Given the description of an element on the screen output the (x, y) to click on. 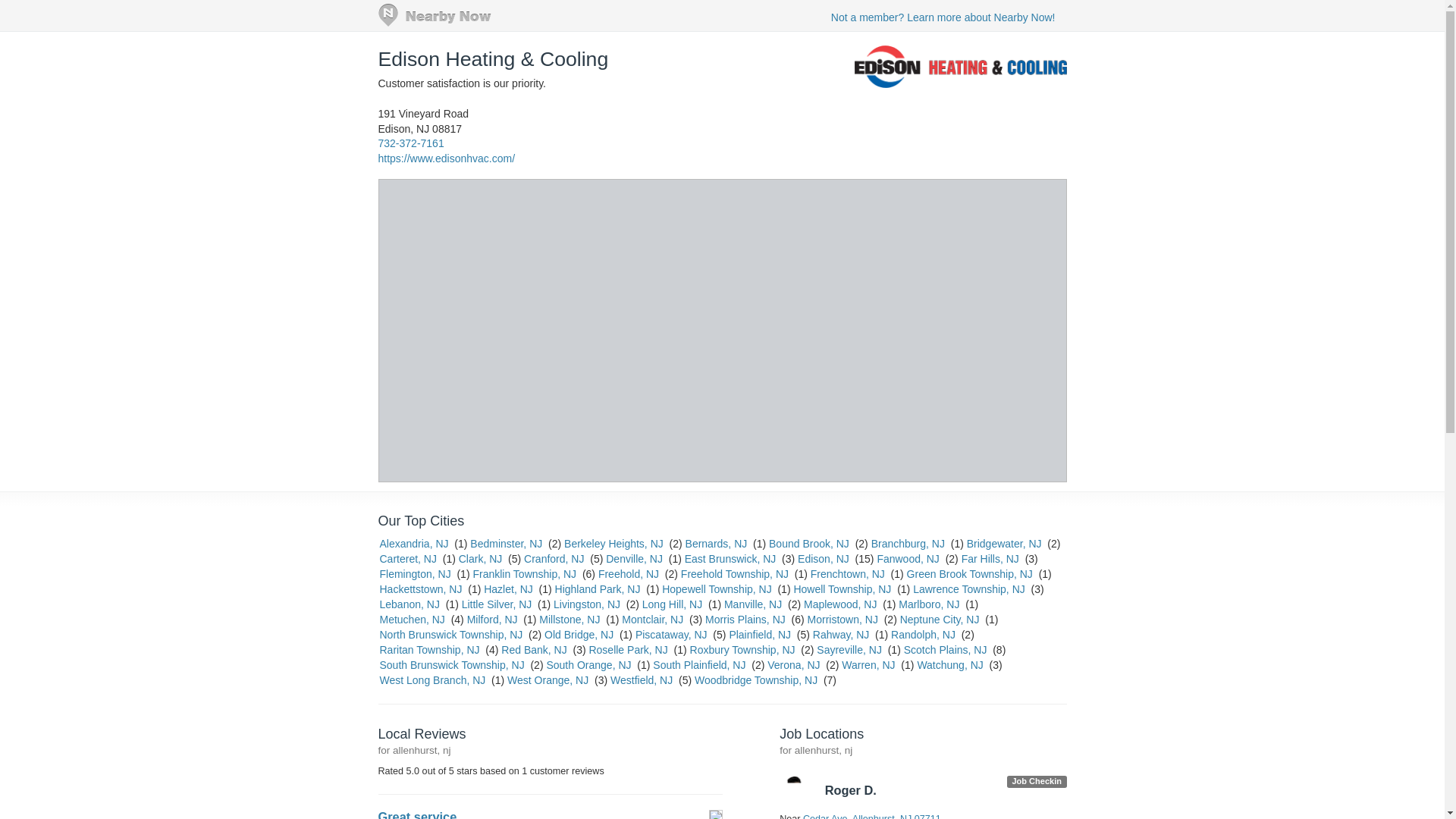
Flemington, NJ (413, 573)
Hazlet, NJ (507, 589)
Hackettstown, NJ (419, 589)
Manville, NJ (752, 604)
Green Brook Township, NJ (969, 573)
Long Hill, NJ (671, 604)
Howell Township, NJ (842, 589)
Lawrence Township, NJ (968, 589)
Branchburg, NJ (907, 543)
Little Silver, NJ (496, 604)
Frenchtown, NJ (847, 573)
East Brunswick, NJ (730, 558)
Berkeley Heights, NJ (613, 543)
Alexandria, NJ (413, 543)
Carteret, NJ (406, 558)
